Given the description of an element on the screen output the (x, y) to click on. 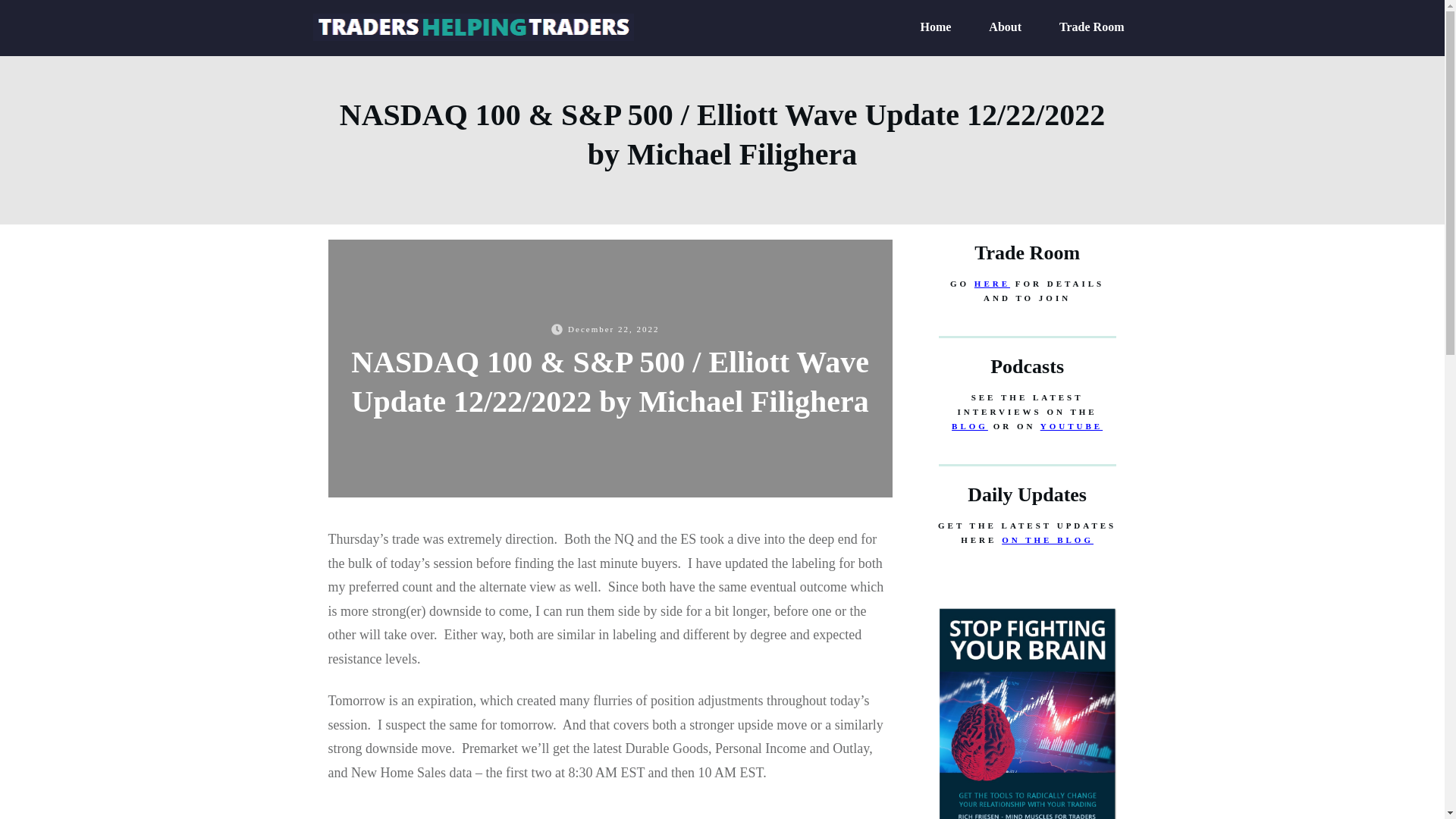
BLOG (970, 425)
Home (935, 27)
HERE (992, 283)
ON THE BLOG (1047, 539)
About (1005, 27)
Trade Room (1091, 27)
YOUTUBE (1071, 425)
